Given the description of an element on the screen output the (x, y) to click on. 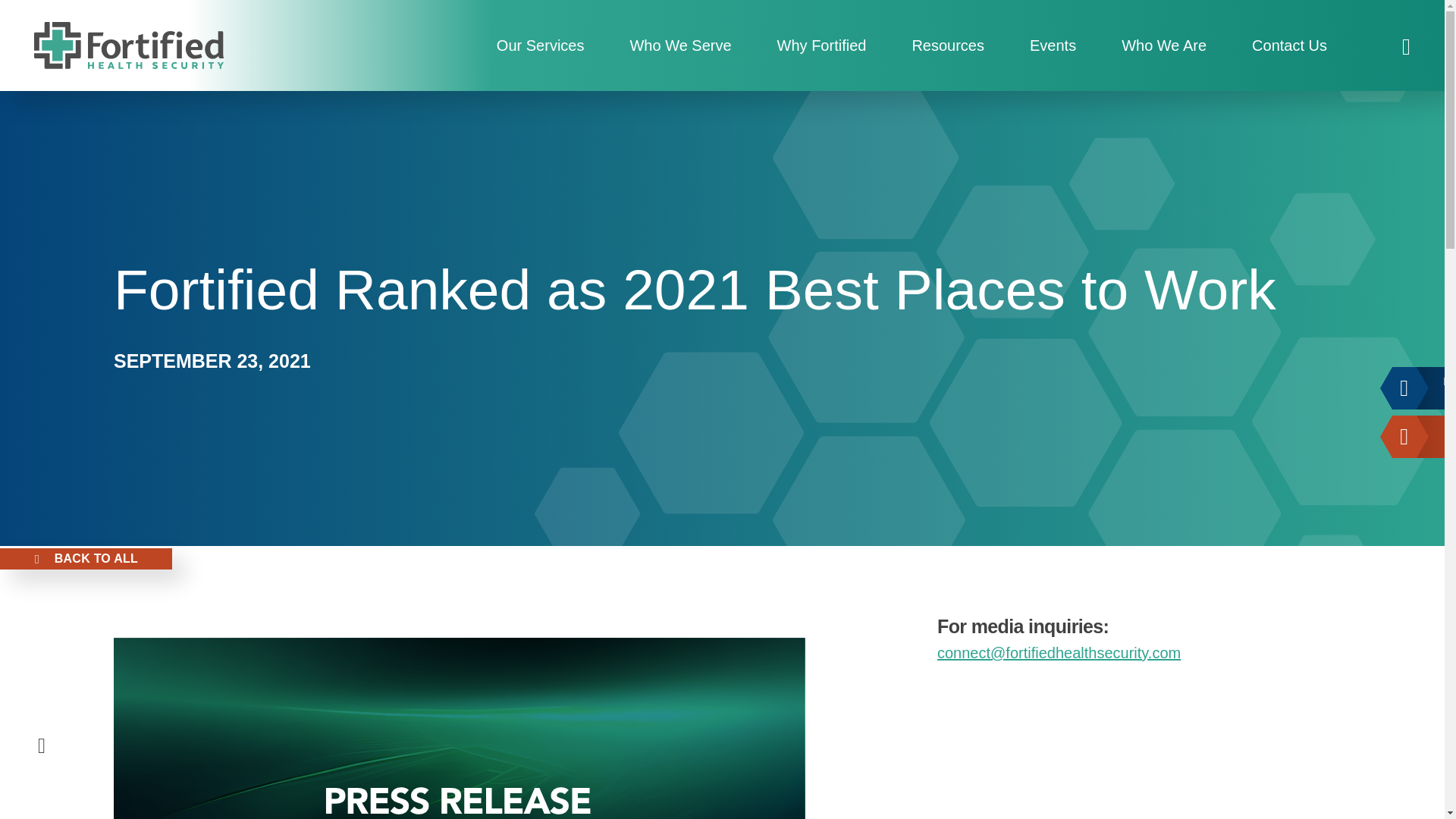
Resources (947, 45)
Why Fortified (821, 45)
Who We Serve (680, 45)
Our Services (540, 45)
Events (1053, 45)
